Given the description of an element on the screen output the (x, y) to click on. 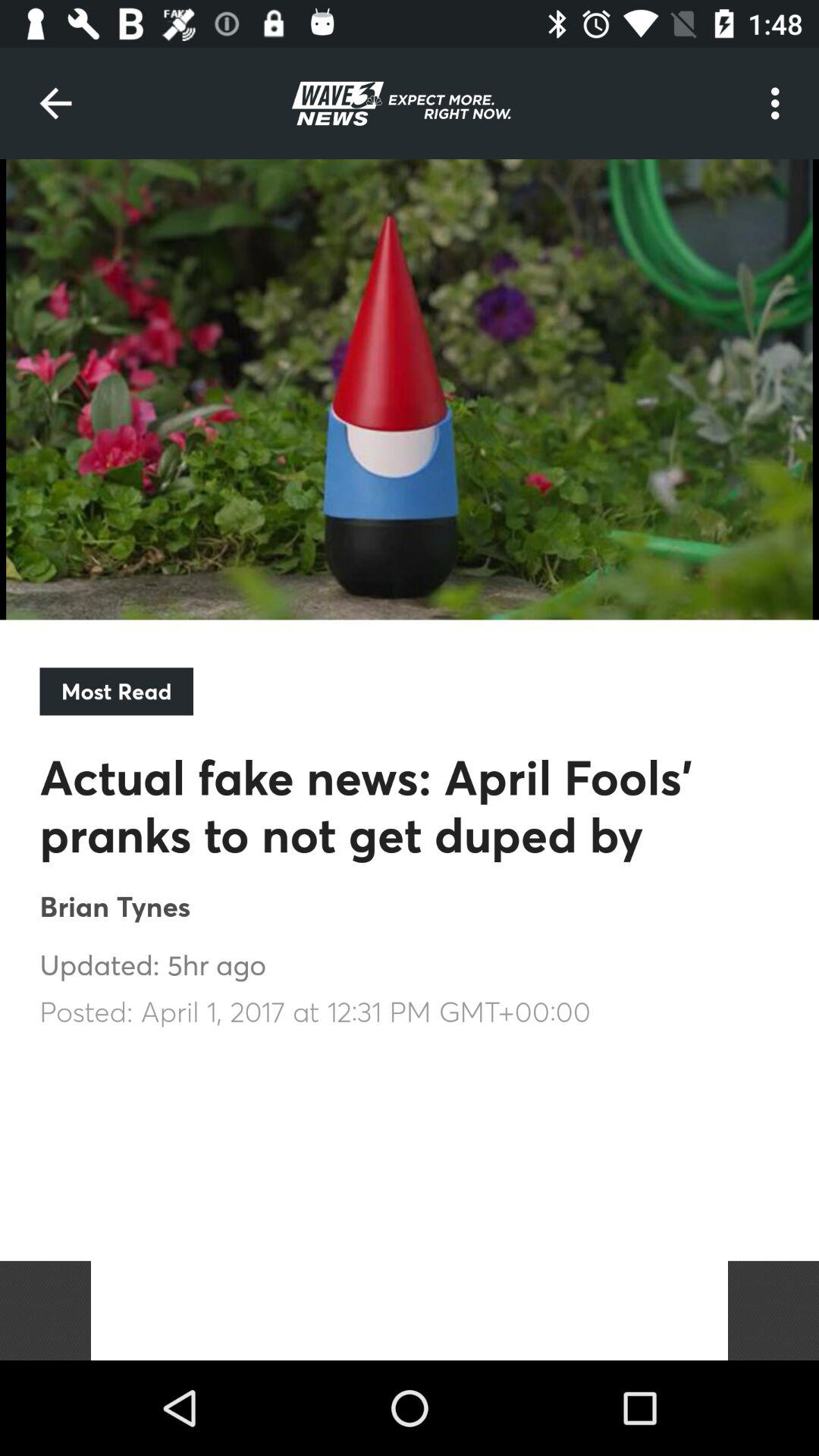
tap the icon at the top left corner (55, 103)
